Given the description of an element on the screen output the (x, y) to click on. 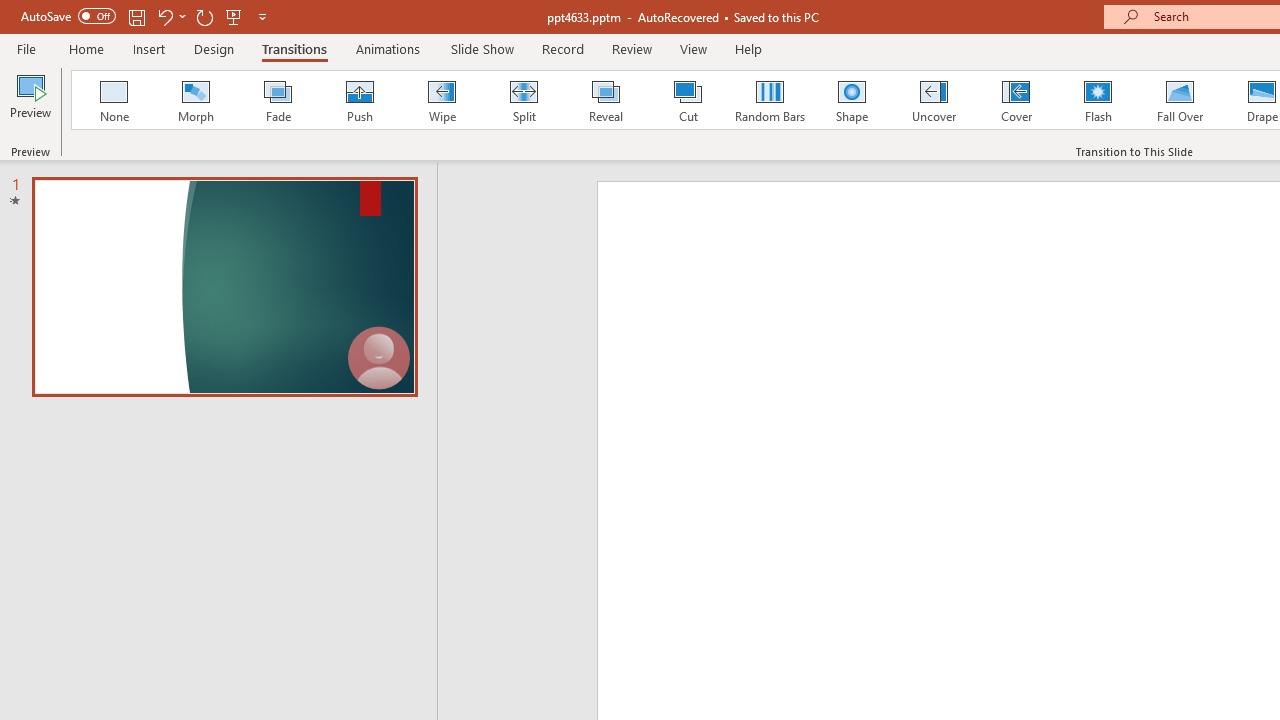
Cover (1016, 100)
Uncover (934, 100)
Push (359, 100)
Morph (195, 100)
Reveal (605, 100)
Wipe (441, 100)
Shape (852, 100)
